Given the description of an element on the screen output the (x, y) to click on. 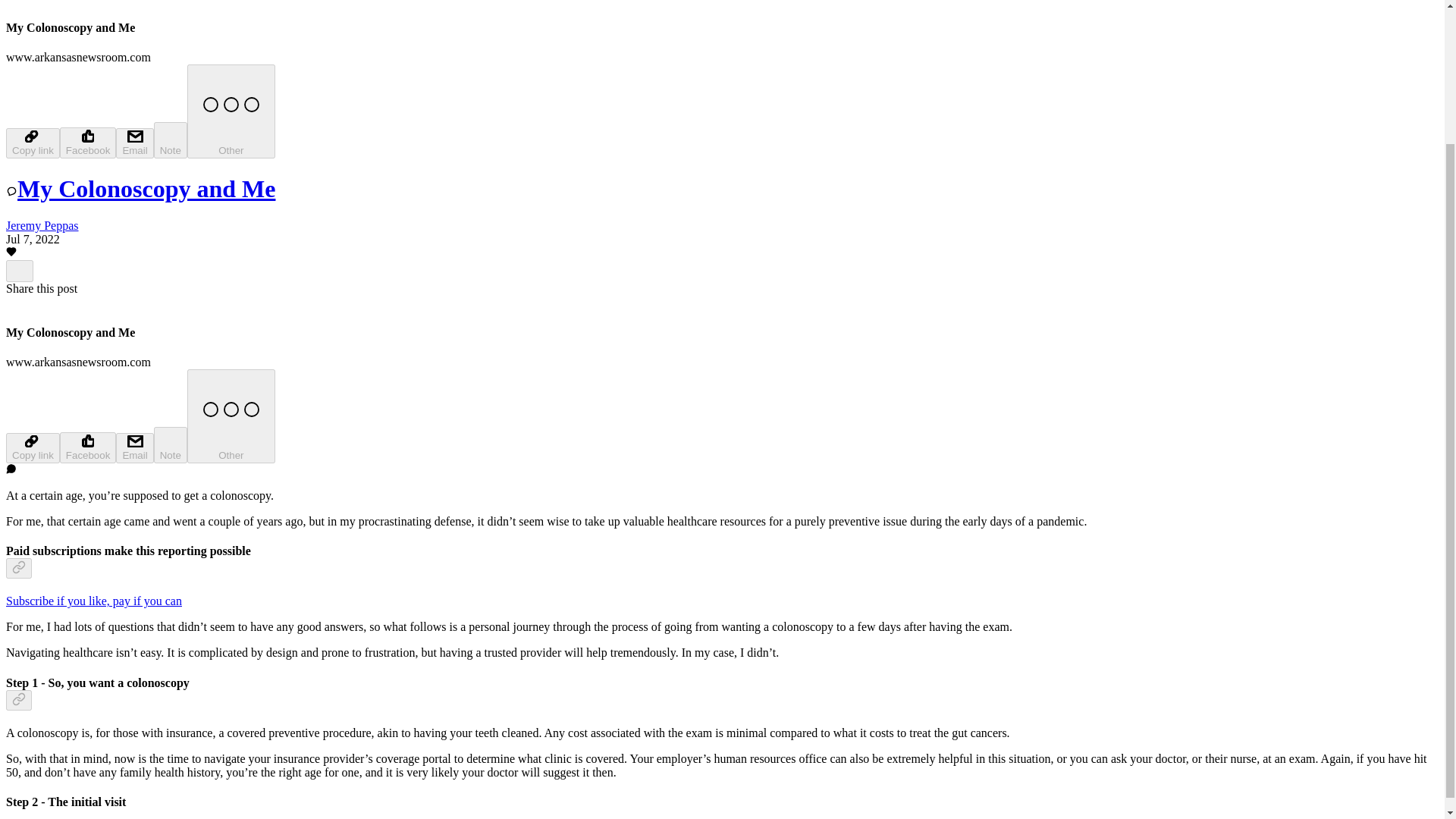
Facebook (87, 447)
Email (134, 448)
Copy link (32, 142)
Note (170, 140)
Other (231, 111)
Note (170, 444)
Email (134, 142)
Copy link (32, 448)
Other (231, 416)
My Colonoscopy and Me (140, 188)
Subscribe if you like, pay if you can (93, 600)
Facebook (87, 142)
Jeremy Peppas (41, 225)
